Given the description of an element on the screen output the (x, y) to click on. 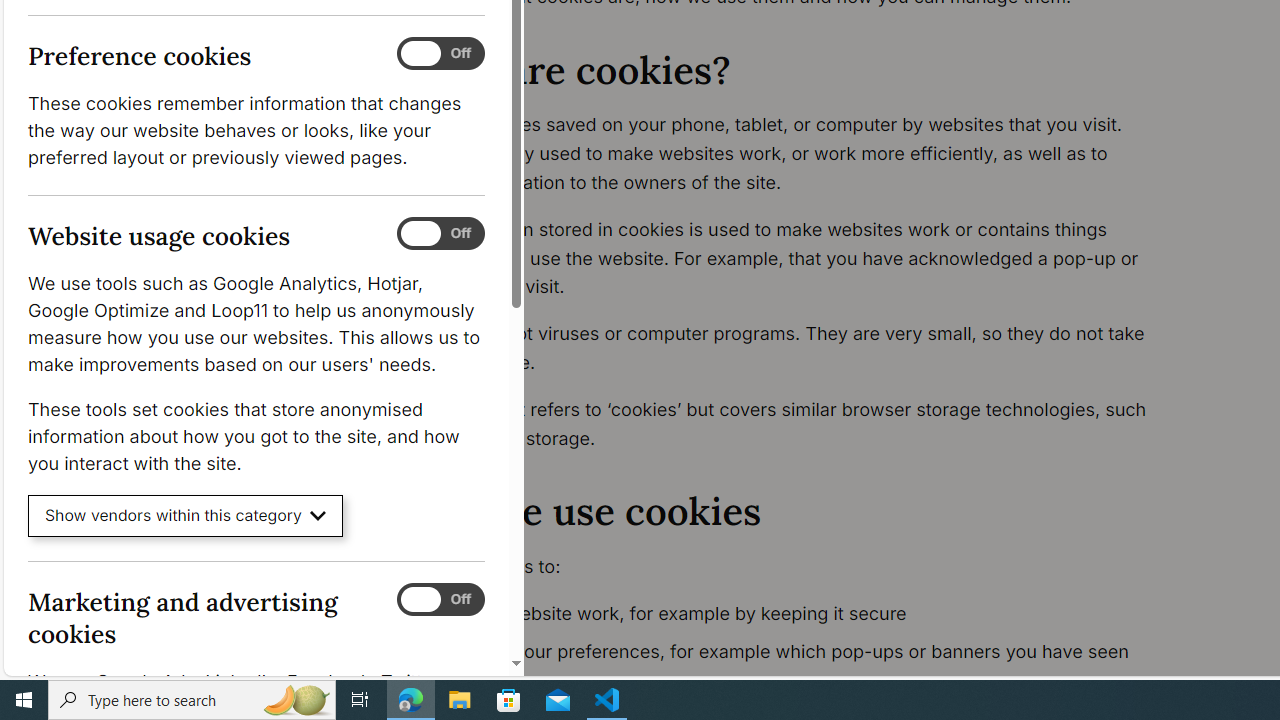
Marketing and advertising cookies (440, 599)
Preference cookies (440, 53)
make our website work, for example by keeping it secure (796, 614)
Website usage cookies (440, 233)
Show vendors within this category (185, 516)
